Given the description of an element on the screen output the (x, y) to click on. 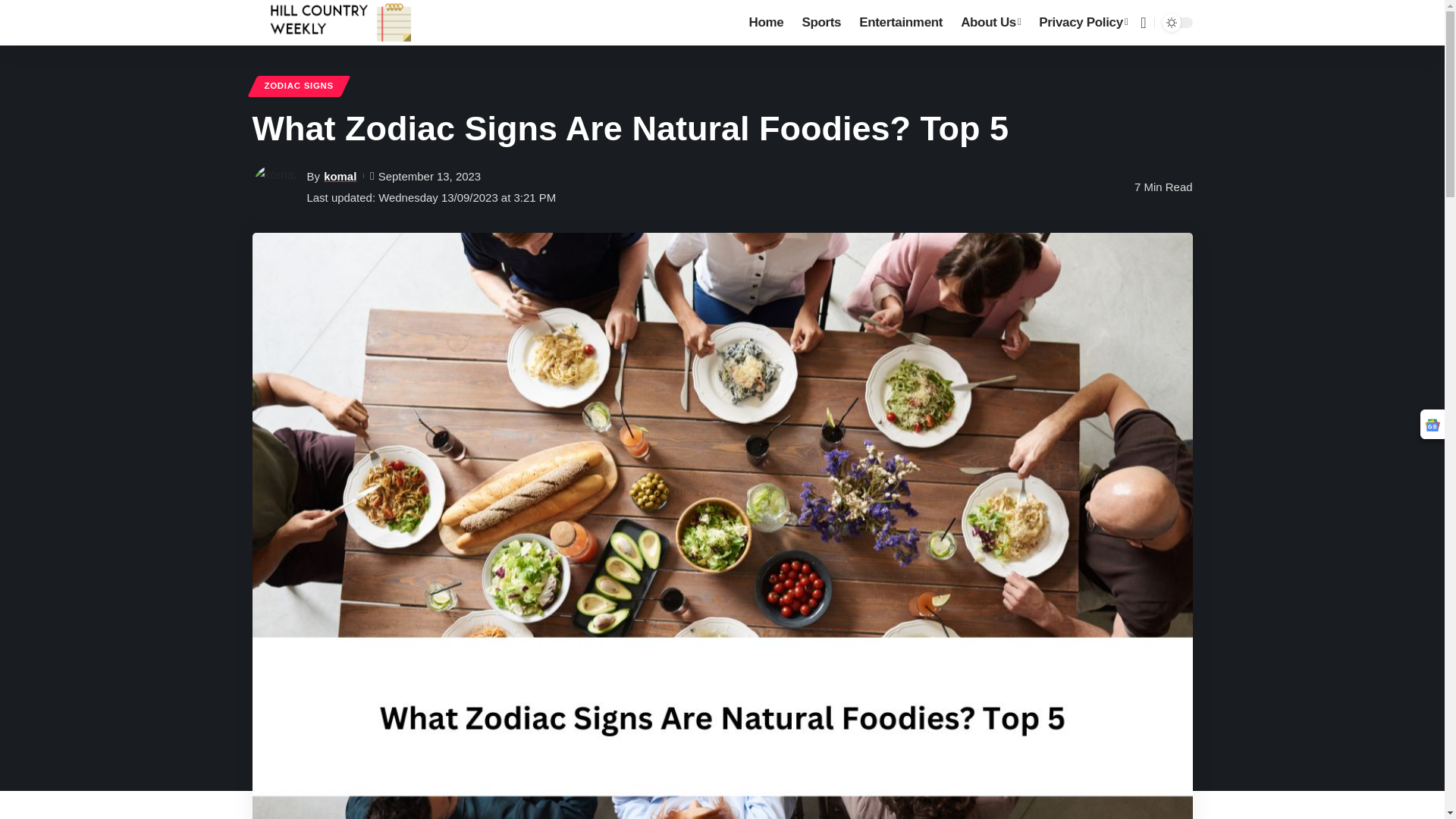
Home (766, 22)
Hill Country Weekly (339, 22)
Entertainment (901, 22)
About Us (990, 22)
komal (339, 176)
ZODIAC SIGNS (298, 86)
Sports (821, 22)
Privacy Policy (1083, 22)
